Given the description of an element on the screen output the (x, y) to click on. 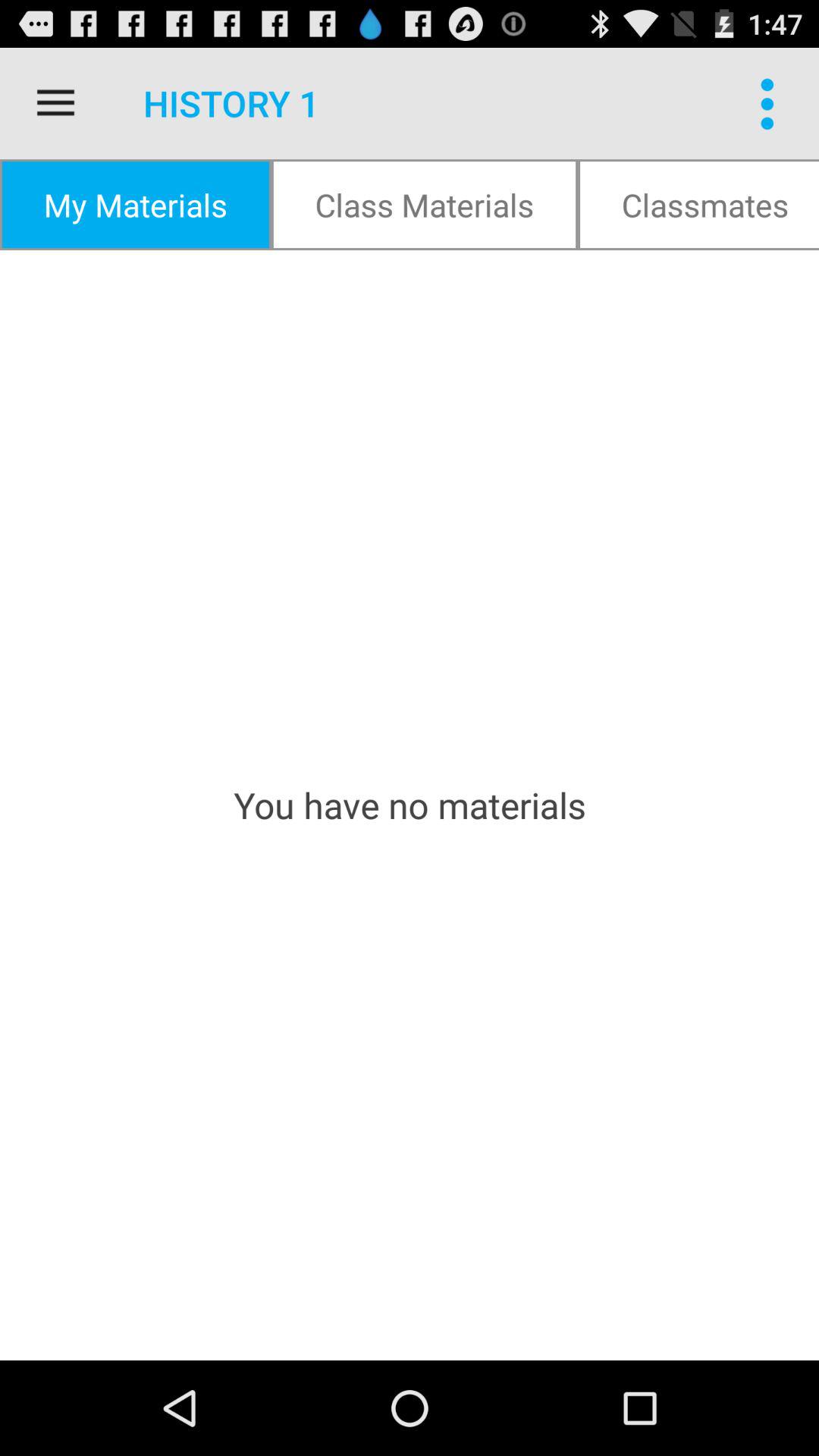
launch icon to the left of classmates icon (424, 204)
